Given the description of an element on the screen output the (x, y) to click on. 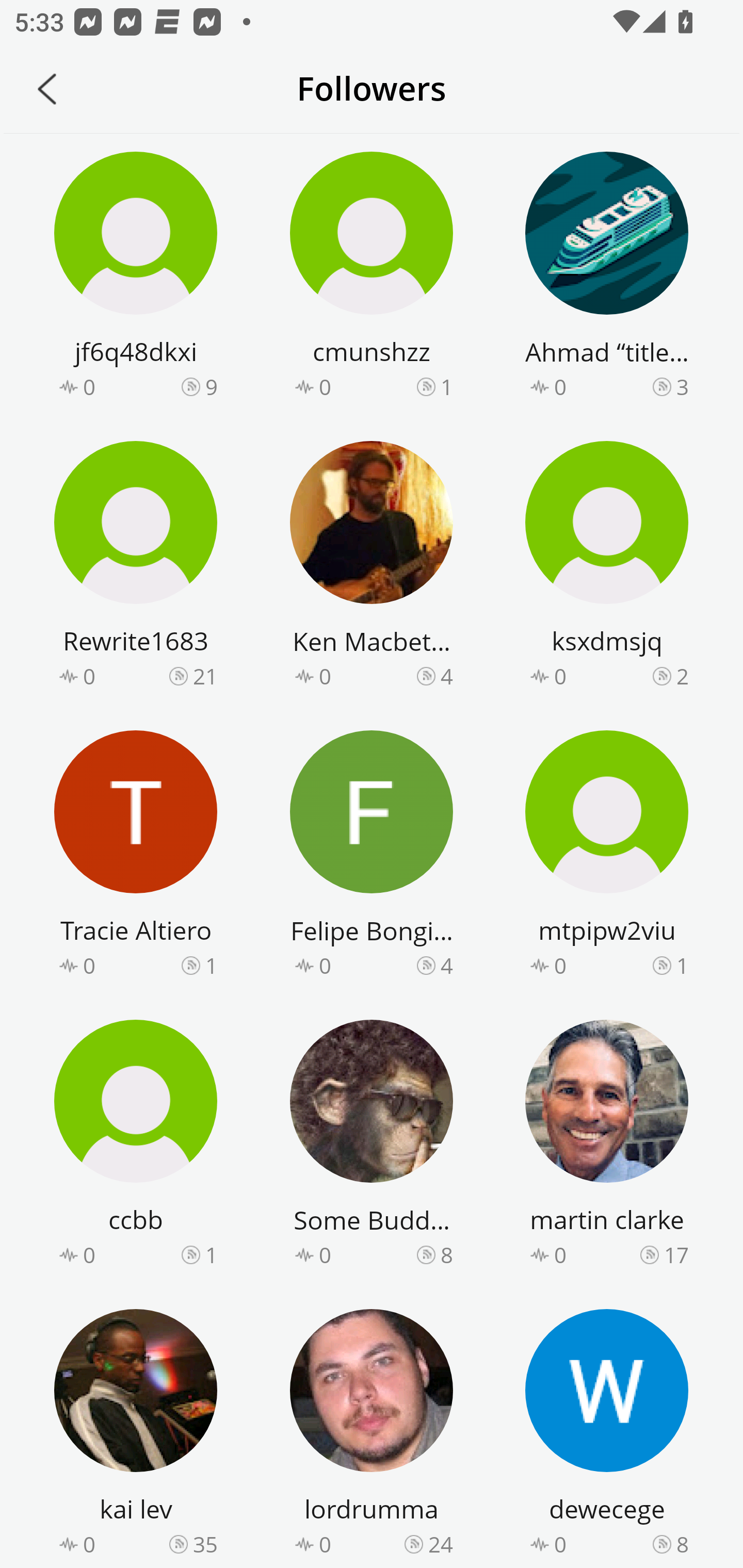
Back (46, 88)
jf6q48dkxi 0 9 (135, 278)
cmunshzz 0 1 (371, 278)
Ahmad “title” Raza 0 3 (606, 278)
9 (211, 386)
1 (446, 386)
3 (682, 386)
Rewrite1683 0 21 (135, 567)
Ken Macbeth Knowles 0 4 (371, 567)
ksxdmsjq 0 2 (606, 567)
21 (205, 676)
4 (446, 676)
2 (682, 676)
Tracie Altiero 0 1 (135, 856)
Felipe Bongiorno 0 4 (371, 856)
mtpipw2viu 0 1 (606, 856)
1 (211, 965)
4 (446, 965)
1 (682, 965)
ccbb 0 1 (135, 1146)
Some Buddhist Guy 0 8 (371, 1146)
martin clarke 0 17 (606, 1146)
1 (211, 1255)
8 (446, 1255)
17 (676, 1255)
kai lev 0 35 (135, 1435)
lordrumma 0 24 (371, 1435)
dewecege 0 8 (606, 1435)
35 (205, 1543)
24 (440, 1543)
8 (682, 1543)
